Given the description of an element on the screen output the (x, y) to click on. 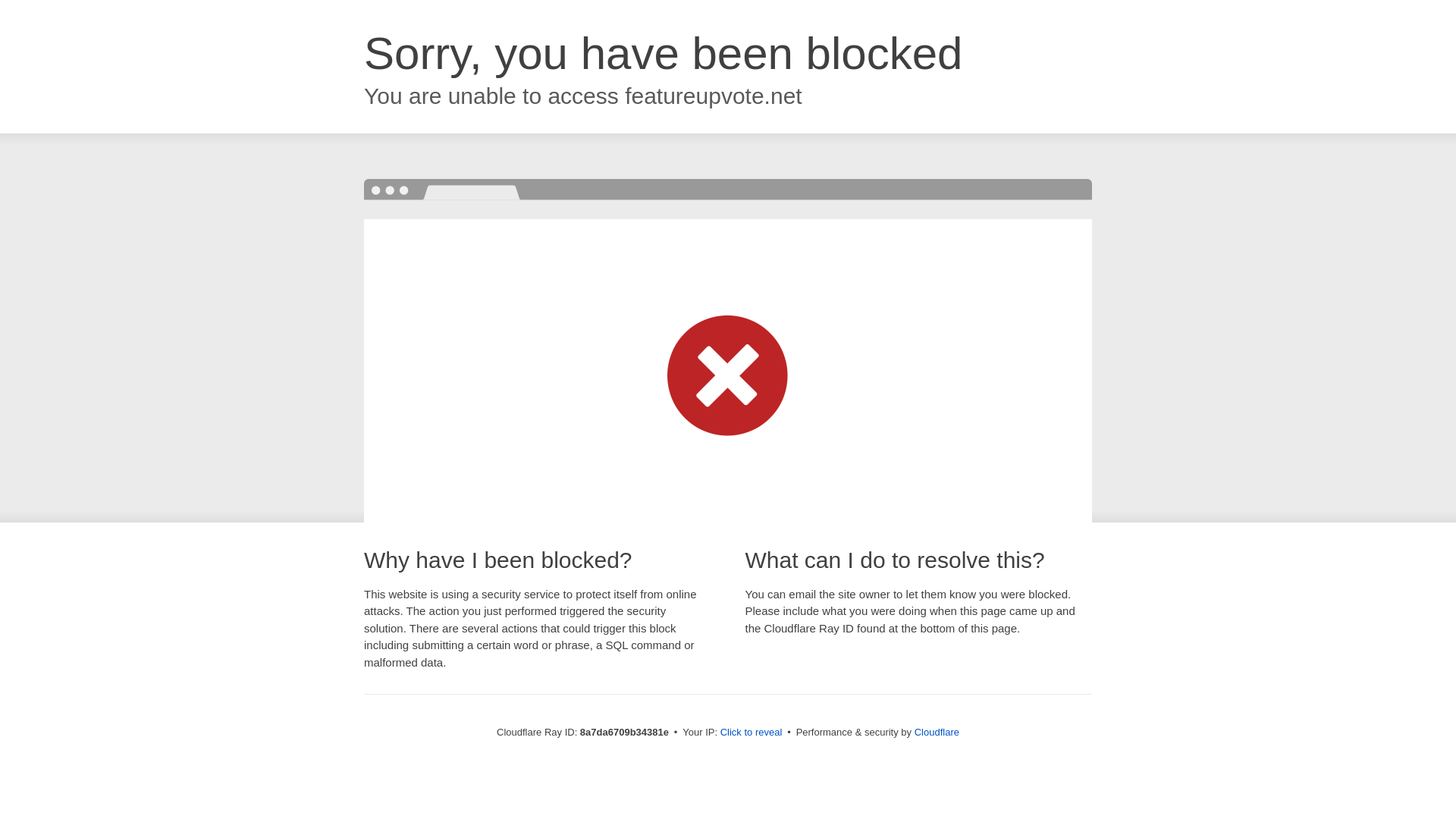
Click to reveal (751, 732)
Cloudflare (936, 731)
